Given the description of an element on the screen output the (x, y) to click on. 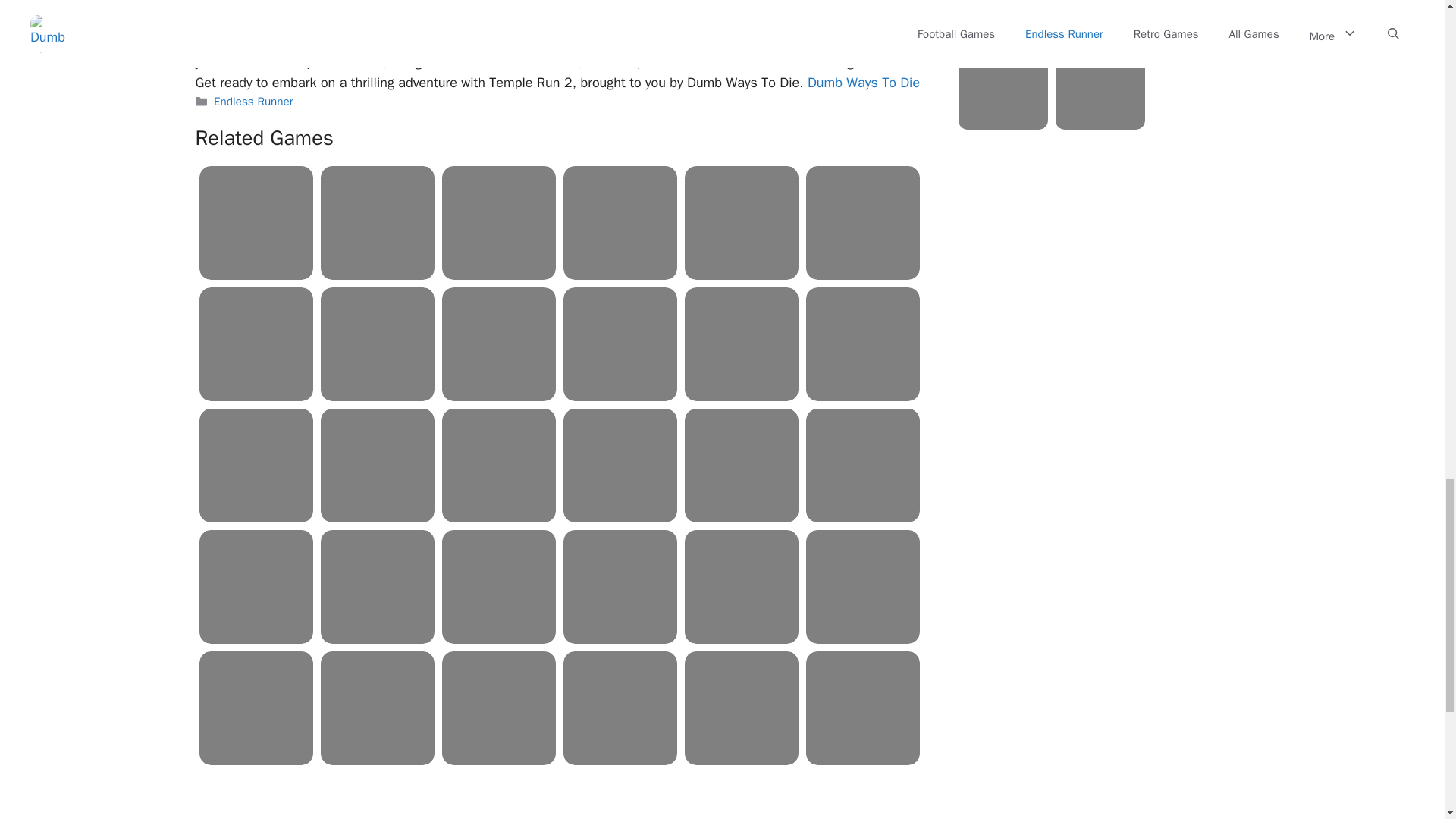
Axis Football League (499, 223)
Tiny Fishing (256, 344)
Dumb Ways To Die (864, 82)
Endless Runner (254, 101)
Duck Hunt (863, 223)
Slope Tunnel (256, 465)
Classic Bowling (376, 223)
Sudoku (620, 223)
Tunnel Rush (376, 465)
Monkey Mart (499, 465)
Checkers (499, 344)
Stunt Simulator Multiplayer (740, 344)
Elastic Face (256, 223)
Fireboy And Watergirl 1: Forest Temple (376, 344)
Smash Karts (620, 344)
